Given the description of an element on the screen output the (x, y) to click on. 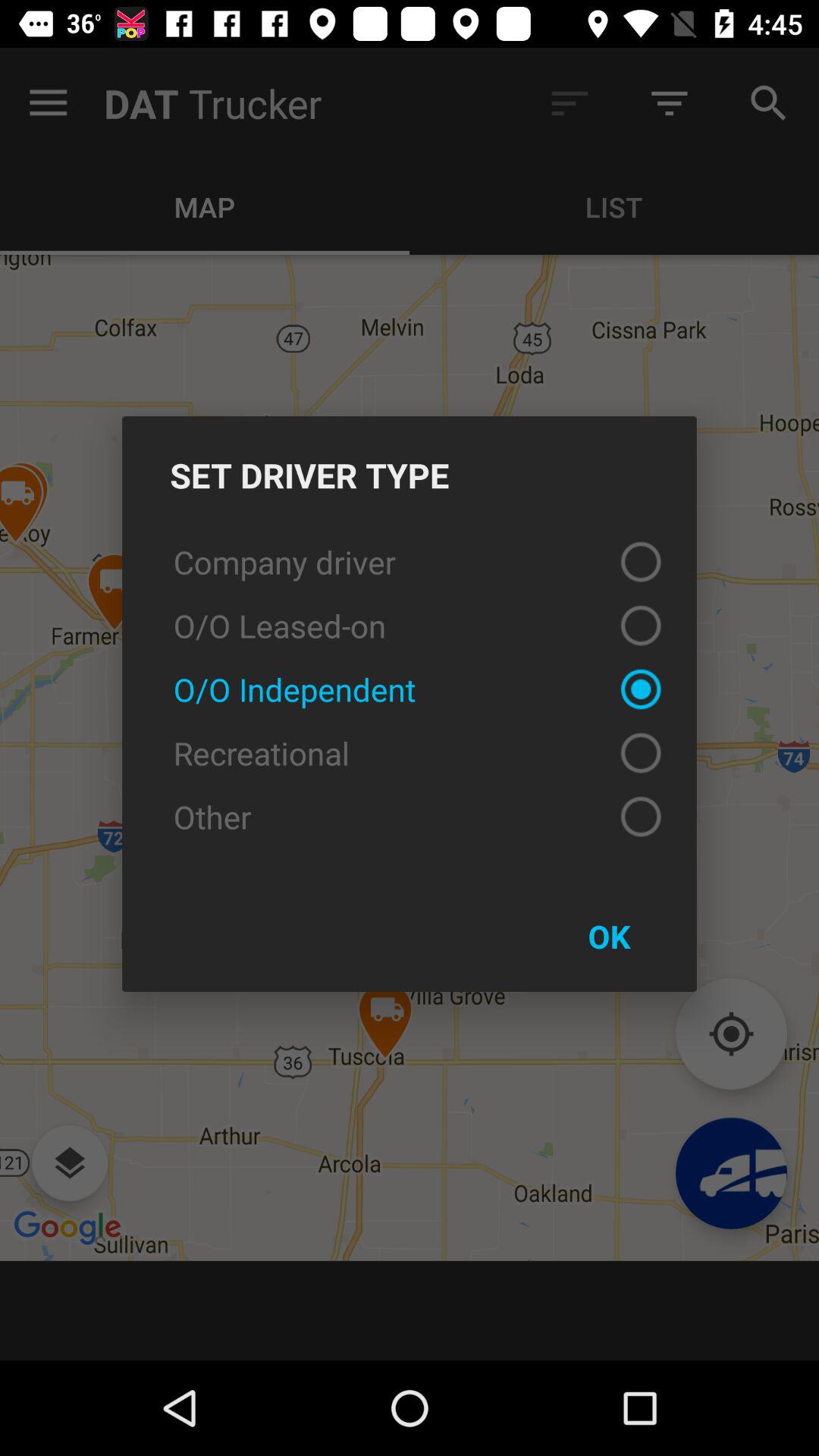
turn off icon on the right (608, 935)
